Given the description of an element on the screen output the (x, y) to click on. 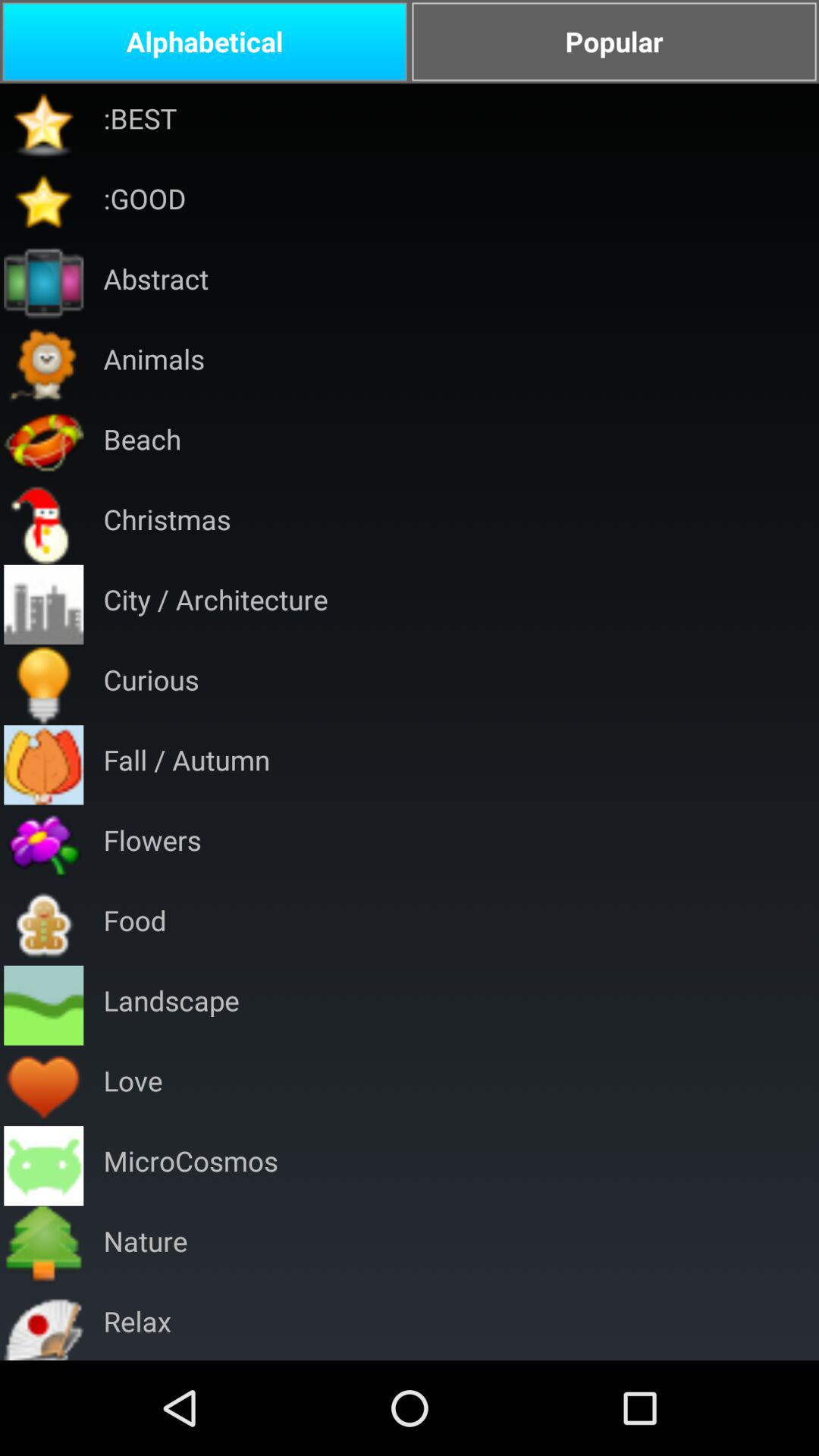
turn on button next to alphabetical item (614, 41)
